Given the description of an element on the screen output the (x, y) to click on. 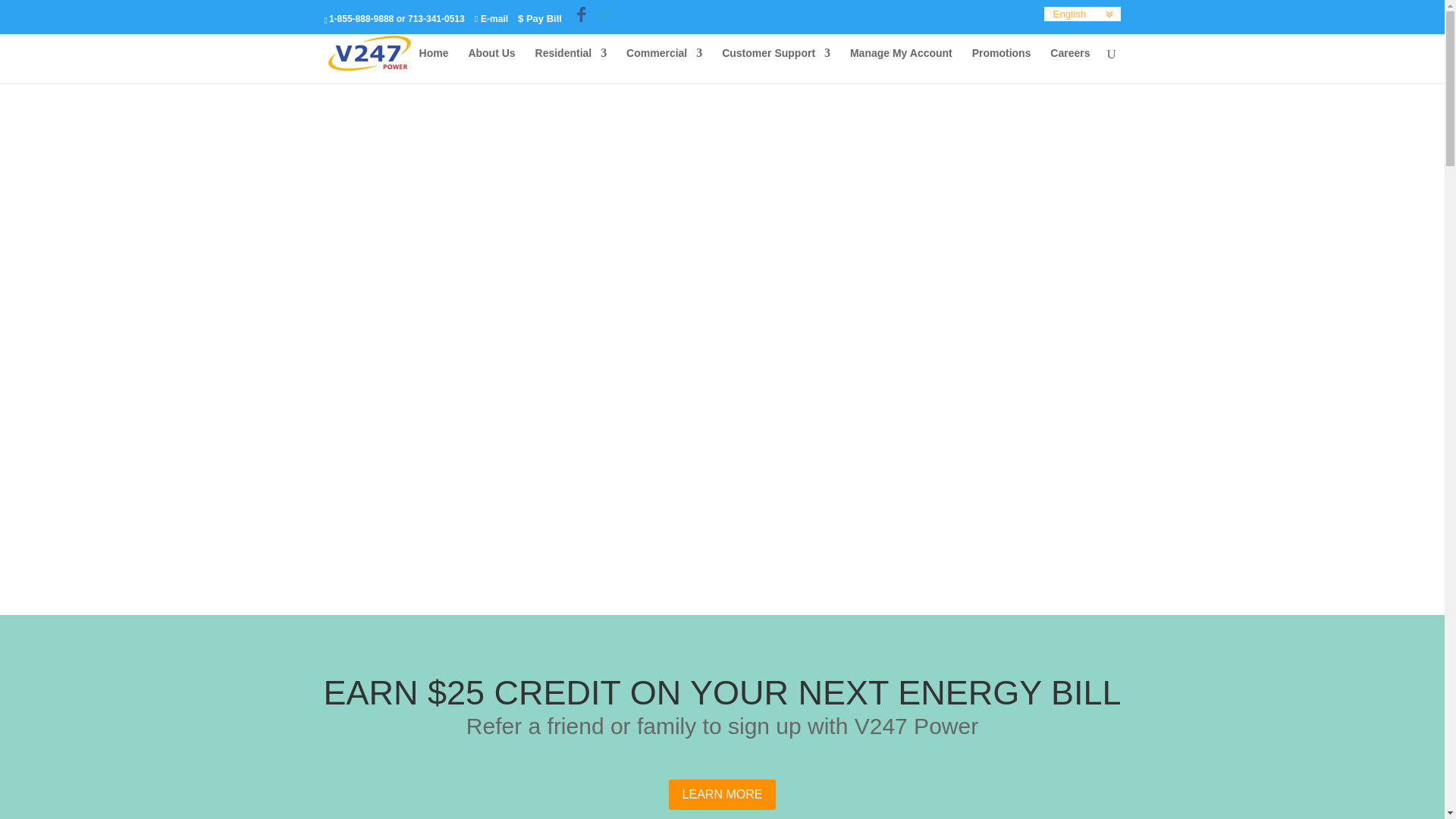
Customer Support (775, 65)
Manage My Account (901, 65)
LEARN MORE (722, 794)
Careers (1069, 65)
About Us (491, 65)
E-mail (491, 18)
Residential (571, 65)
Commercial (663, 65)
Promotions (1001, 65)
